Given the description of an element on the screen output the (x, y) to click on. 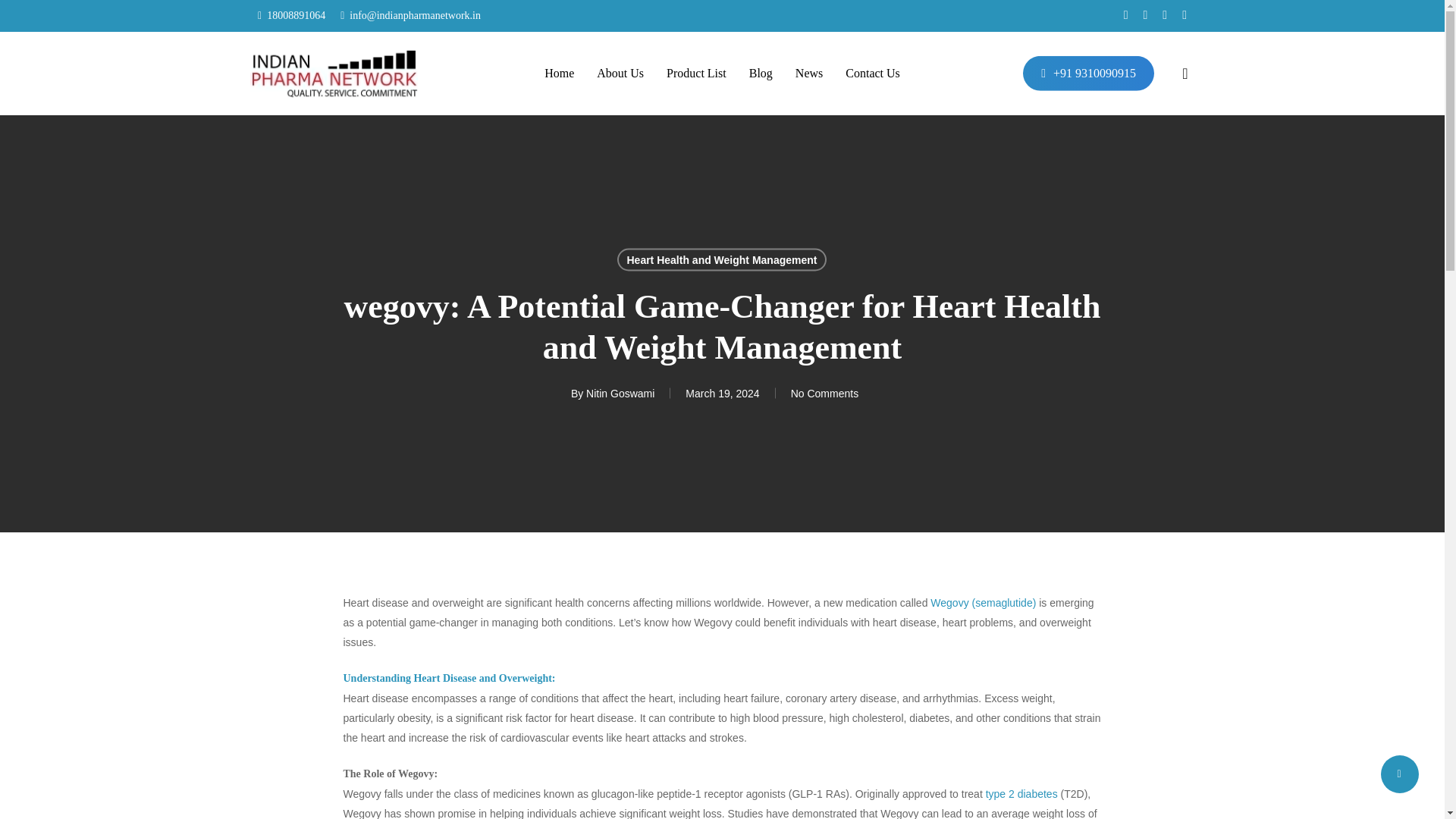
18008891064 (290, 15)
Posts by Nitin Goswami (619, 392)
Product List (696, 73)
About Us (619, 73)
Home (558, 73)
